Given the description of an element on the screen output the (x, y) to click on. 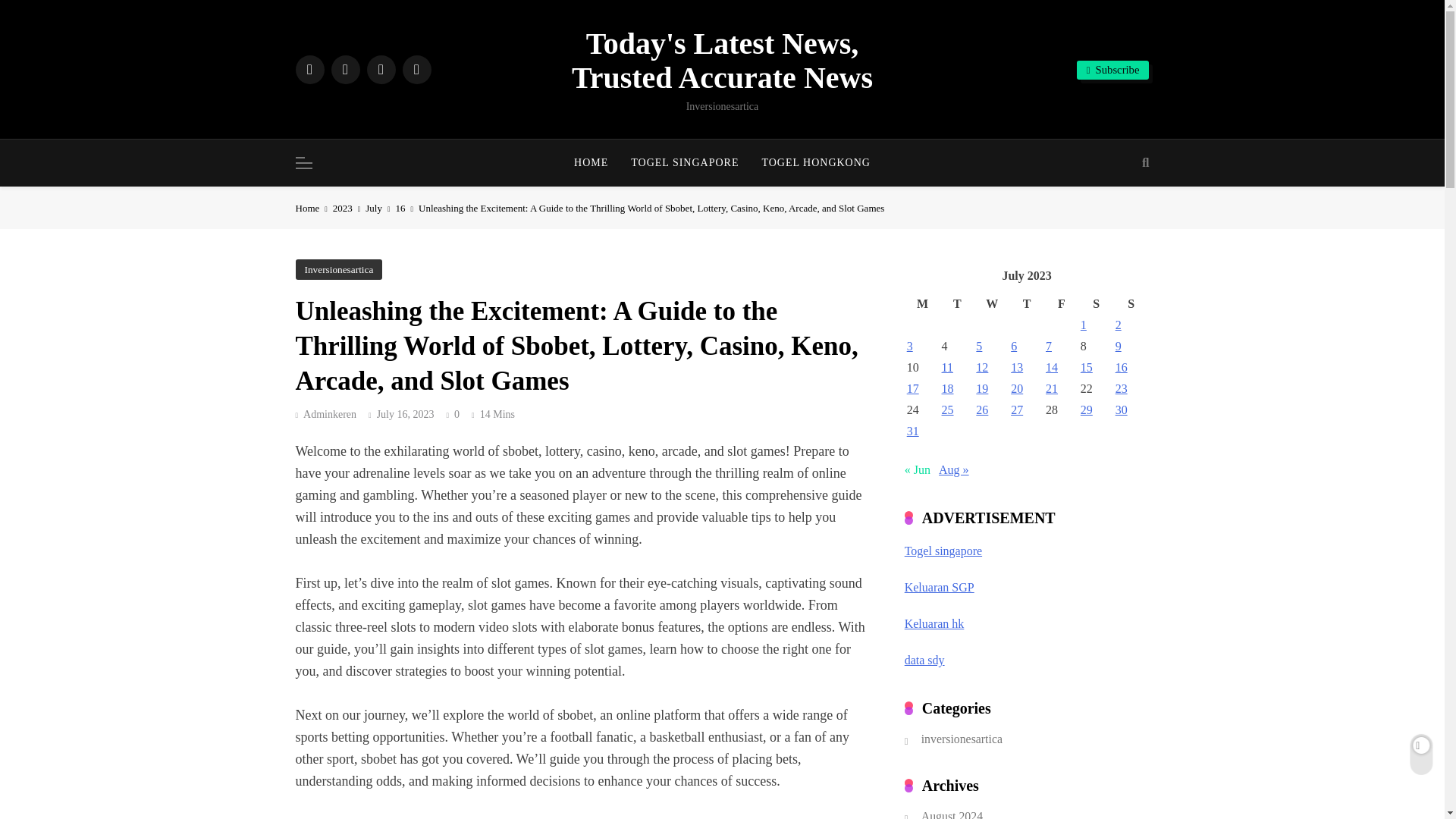
Tuesday (957, 303)
16 (407, 208)
July (379, 208)
Monday (922, 303)
Subscribe (1113, 69)
July 16, 2023 (405, 414)
HOME (591, 162)
TOGEL HONGKONG (815, 162)
Friday (1061, 303)
Today's Latest News, Trusted Accurate News (722, 60)
